Given the description of an element on the screen output the (x, y) to click on. 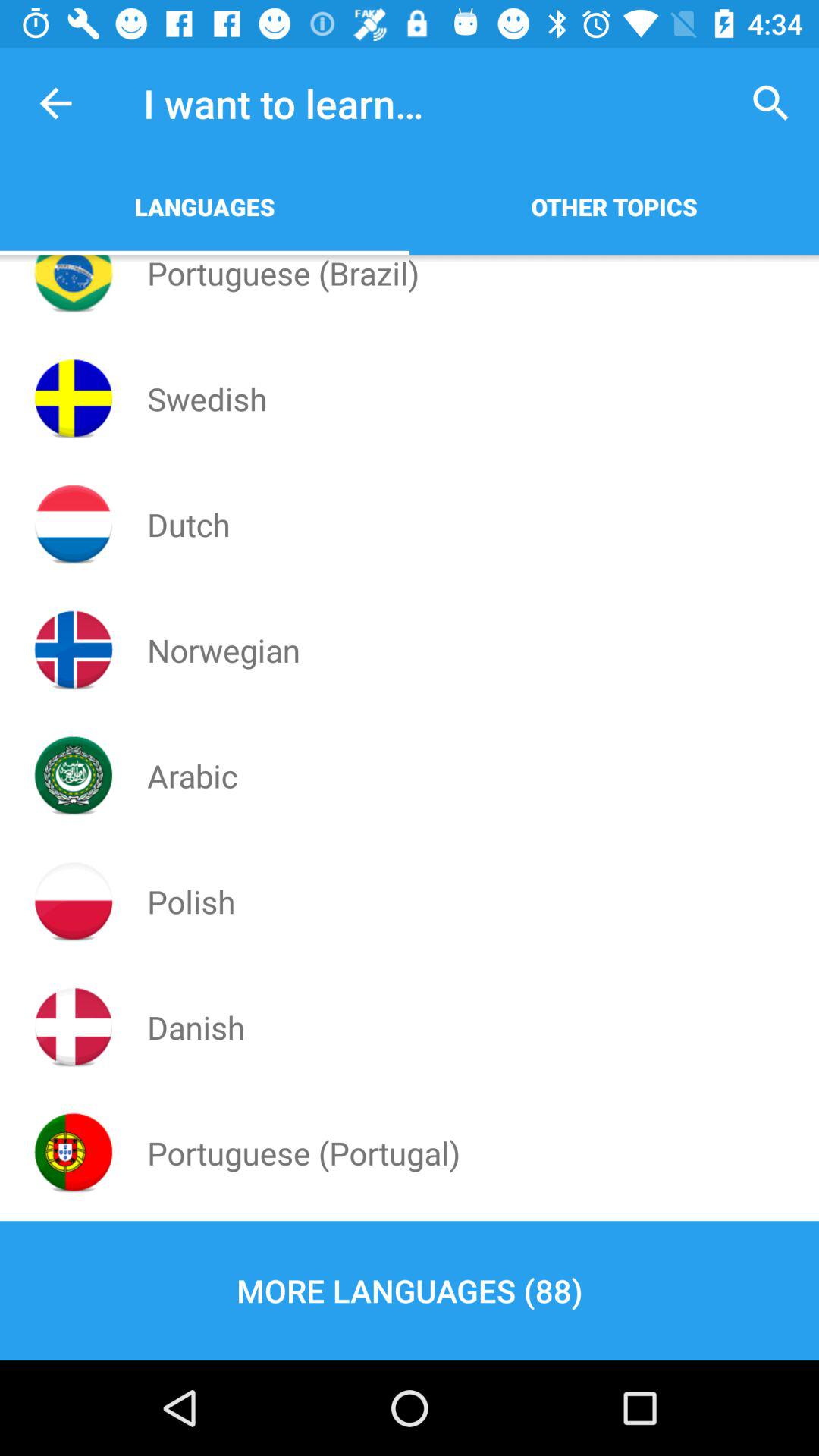
select the item to the left of i want to icon (55, 103)
